Given the description of an element on the screen output the (x, y) to click on. 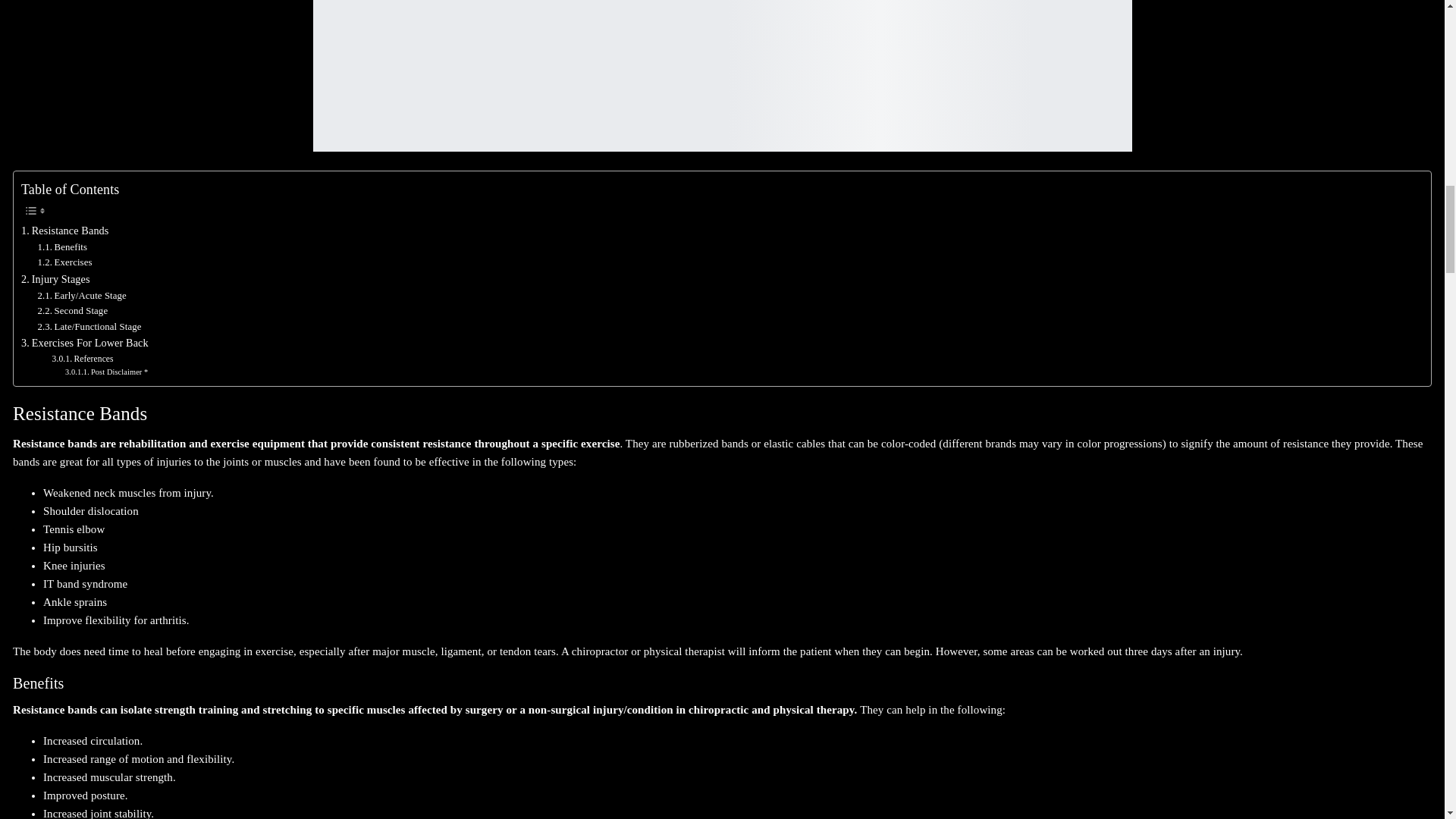
Benefits (62, 247)
Exercises For Lower Back (84, 343)
Injury Stages (55, 279)
Second Stage (72, 311)
References (82, 358)
Resistance Bands (64, 230)
Exercises (64, 262)
